Given the description of an element on the screen output the (x, y) to click on. 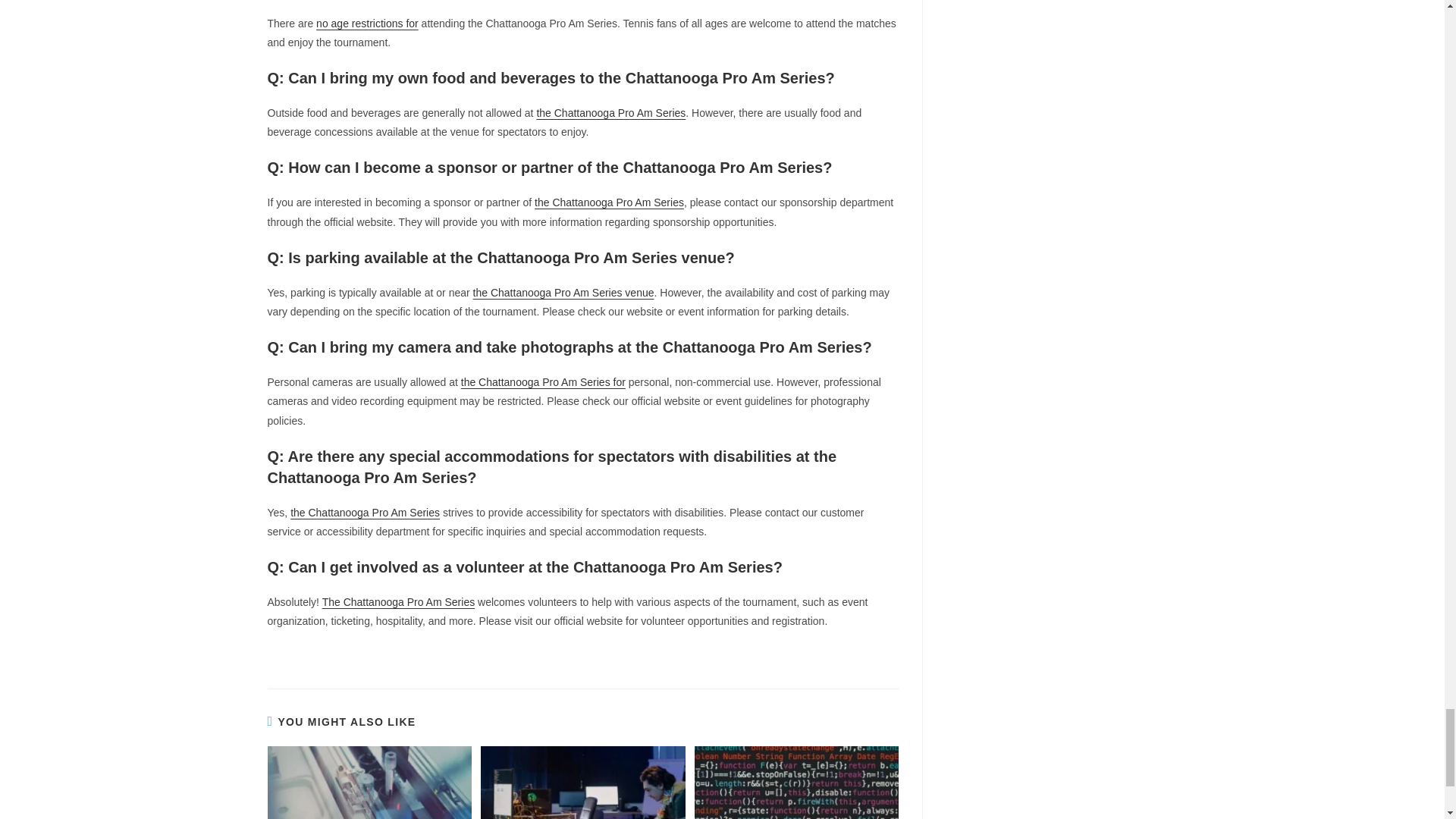
the Chattanooga Pro Am Series (609, 202)
the Chattanooga Pro Am Series (610, 112)
no age restrictions for (367, 23)
